Given the description of an element on the screen output the (x, y) to click on. 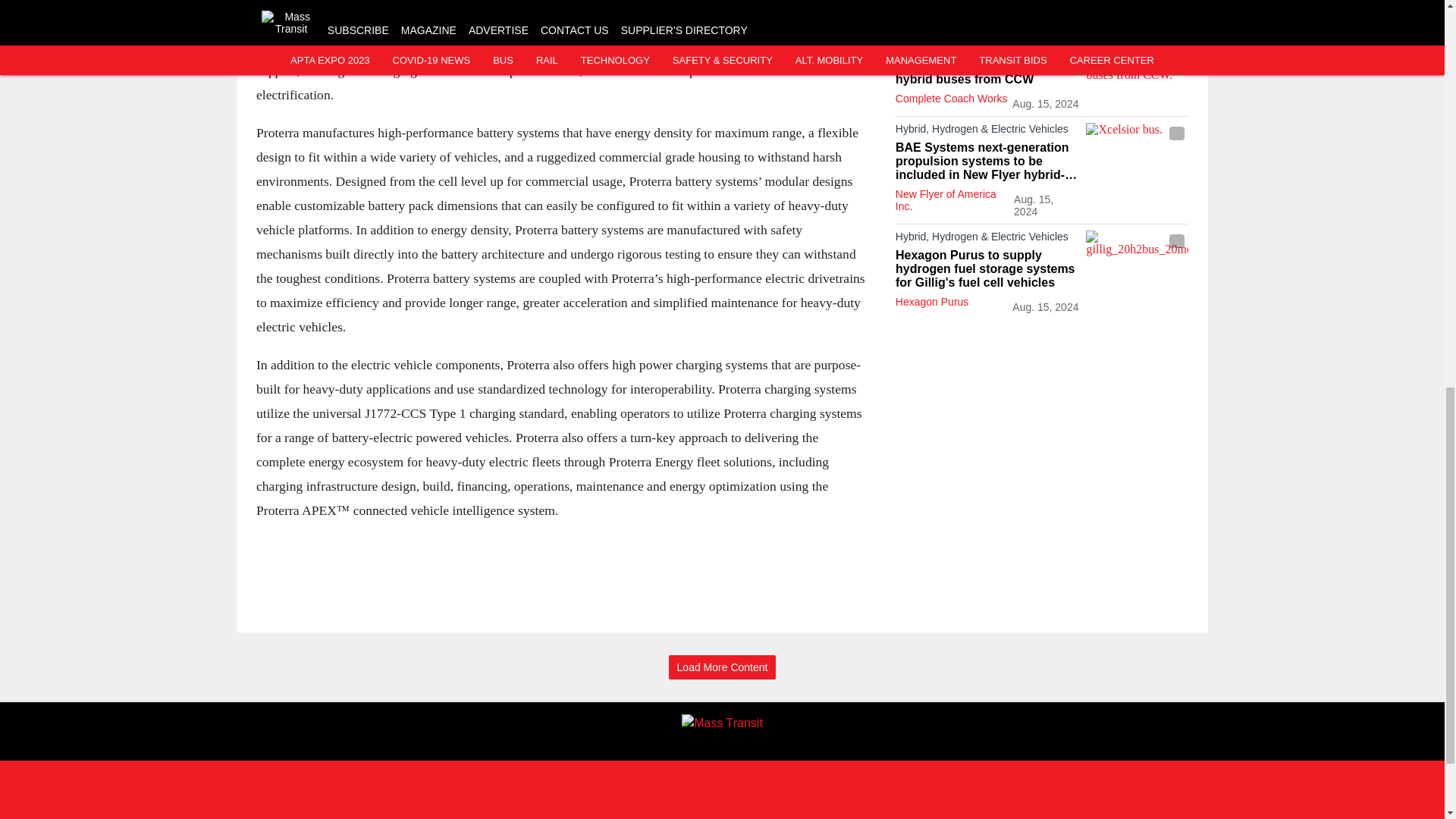
Core Transit to lease three hybrid buses from CCW. (1137, 68)
Core Transit to lease three hybrid buses from CCW (986, 72)
Complete Coach Works (951, 98)
Hexagon Purus (932, 301)
New Flyer of America Inc. (945, 200)
Load More Content (722, 667)
Xcelsior bus. (1137, 150)
